Given the description of an element on the screen output the (x, y) to click on. 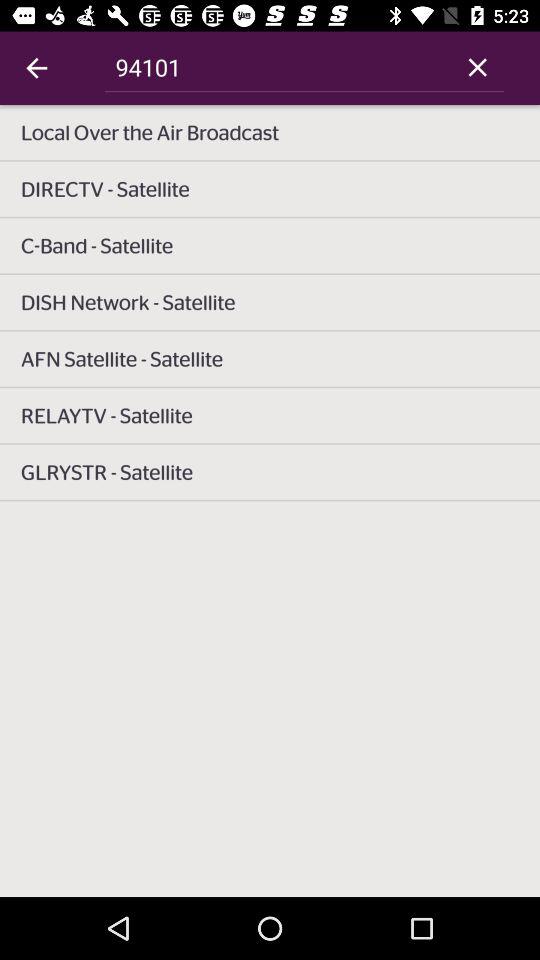
click the icon to the right of 94101 icon (477, 67)
